Given the description of an element on the screen output the (x, y) to click on. 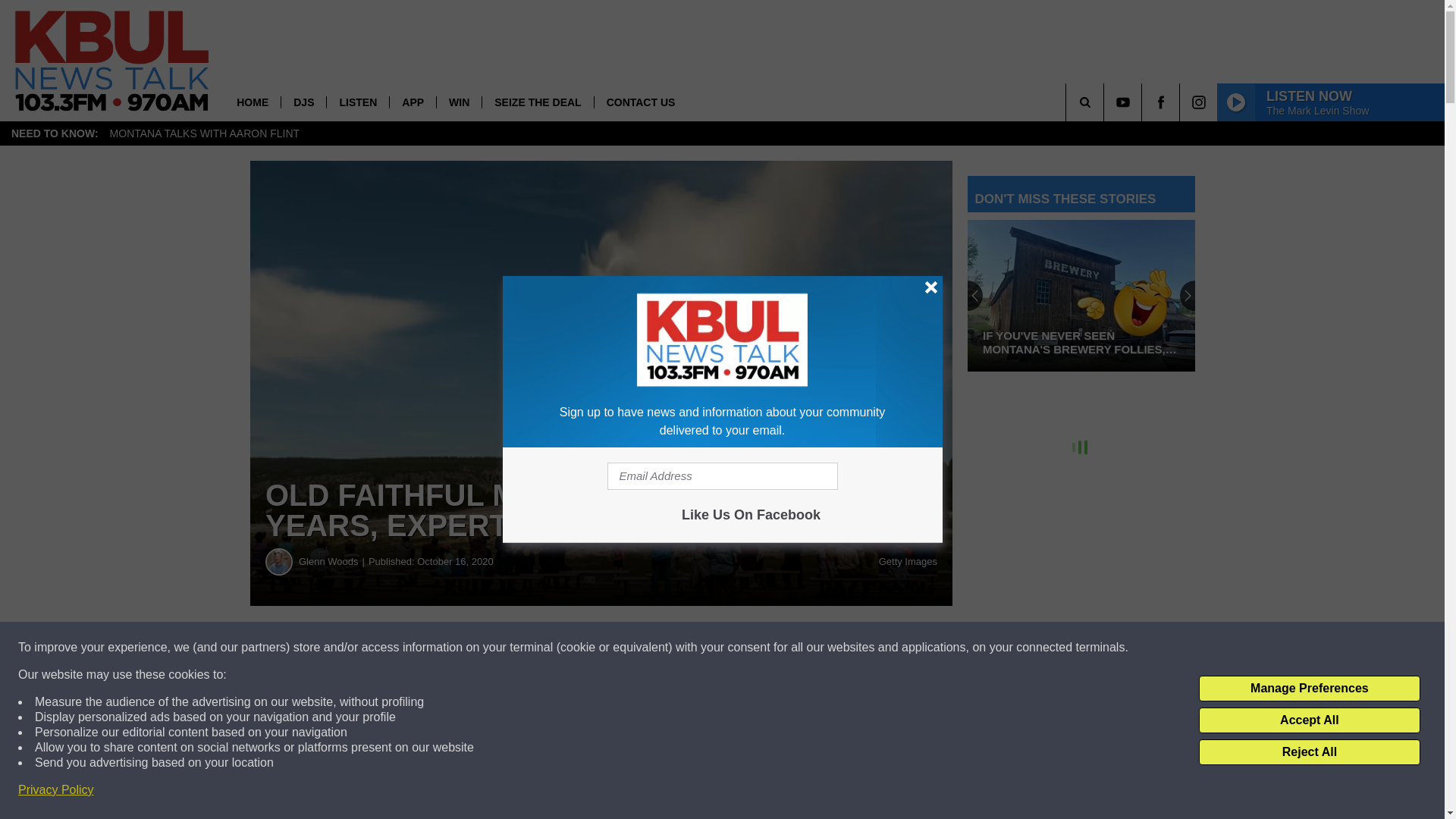
Share on Facebook (460, 647)
Accept All (1309, 720)
SEARCH (1106, 102)
HOME (252, 102)
SEIZE THE DEAL (536, 102)
MONTANA TALKS WITH AARON FLINT (205, 133)
Manage Preferences (1309, 688)
Privacy Policy (55, 789)
Share on Twitter (741, 647)
APP (411, 102)
SEARCH (1106, 102)
LISTEN (357, 102)
Email Address (722, 475)
WIN (458, 102)
Reject All (1309, 751)
